Given the description of an element on the screen output the (x, y) to click on. 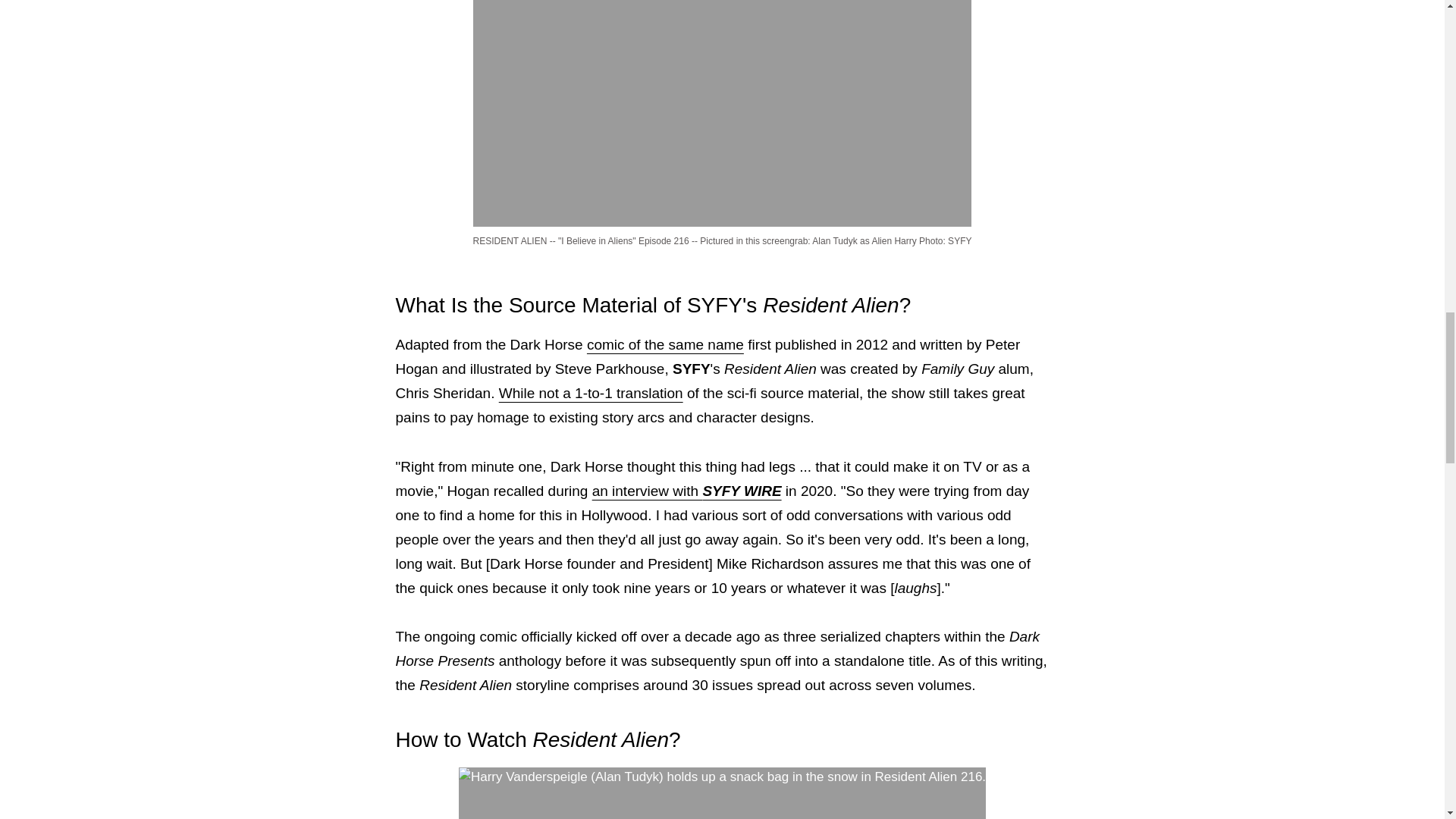
an interview with SYFY WIRE (686, 490)
While not a 1-to-1 translation (590, 392)
comic of the same name (665, 344)
